Given the description of an element on the screen output the (x, y) to click on. 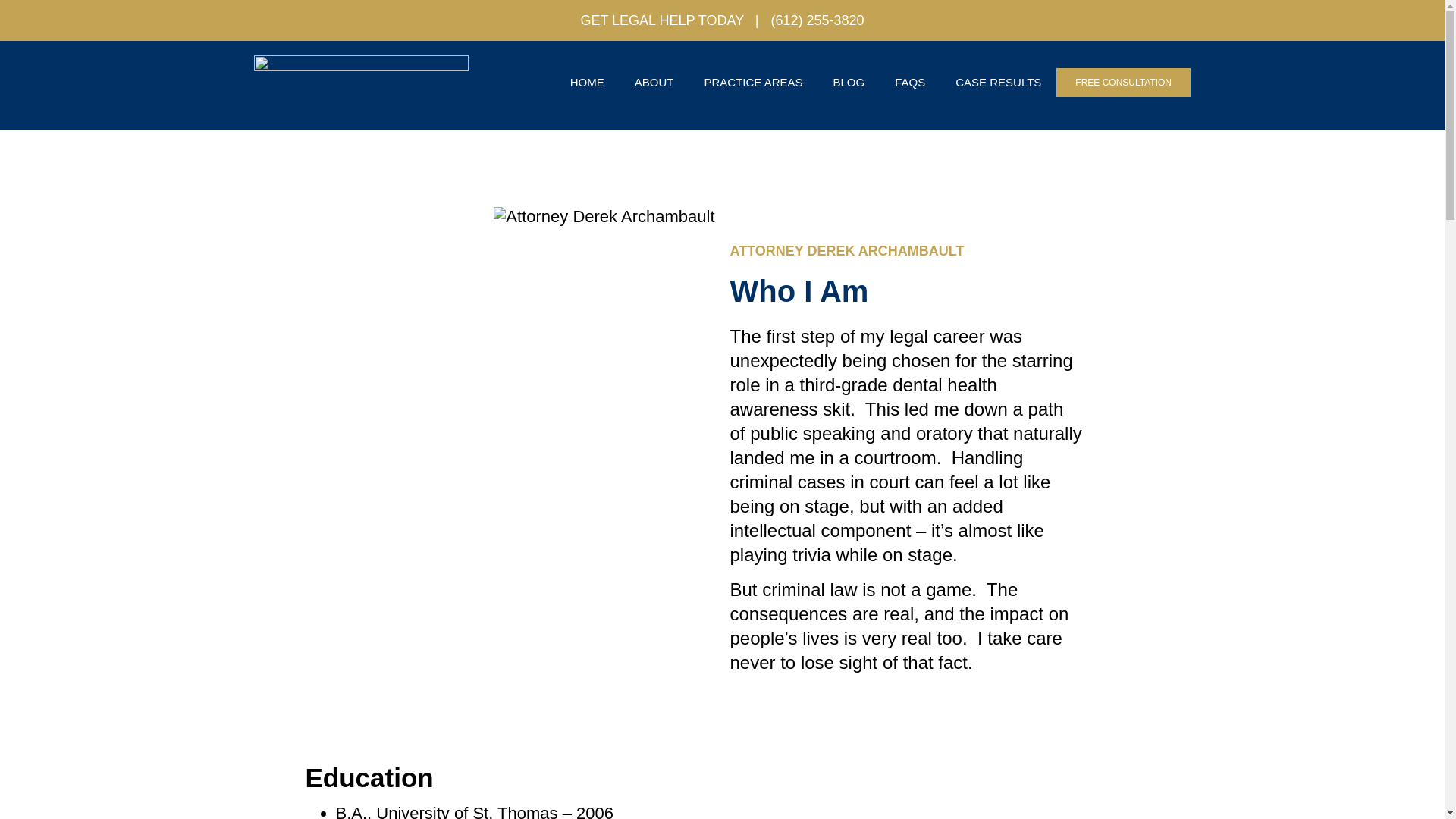
HOME (587, 82)
CASE RESULTS (998, 82)
FAQS (909, 82)
ABOUT (654, 82)
Attorney Derek Archambault (603, 216)
PRACTICE AREAS (752, 82)
FREE CONSULTATION (1124, 82)
BLOG (849, 82)
